Given the description of an element on the screen output the (x, y) to click on. 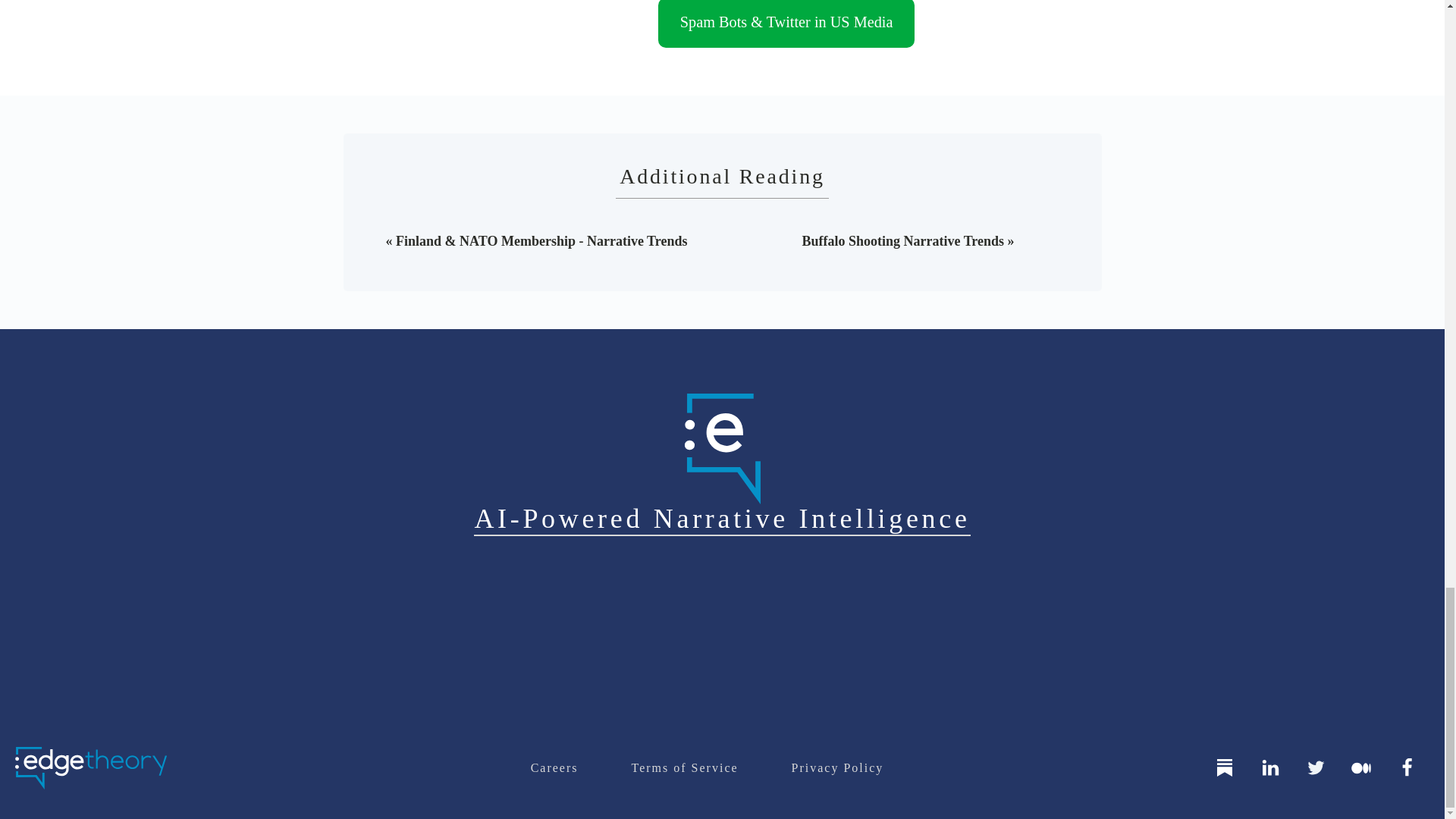
Buffalo Shooting Narrative Trends (903, 240)
